Given the description of an element on the screen output the (x, y) to click on. 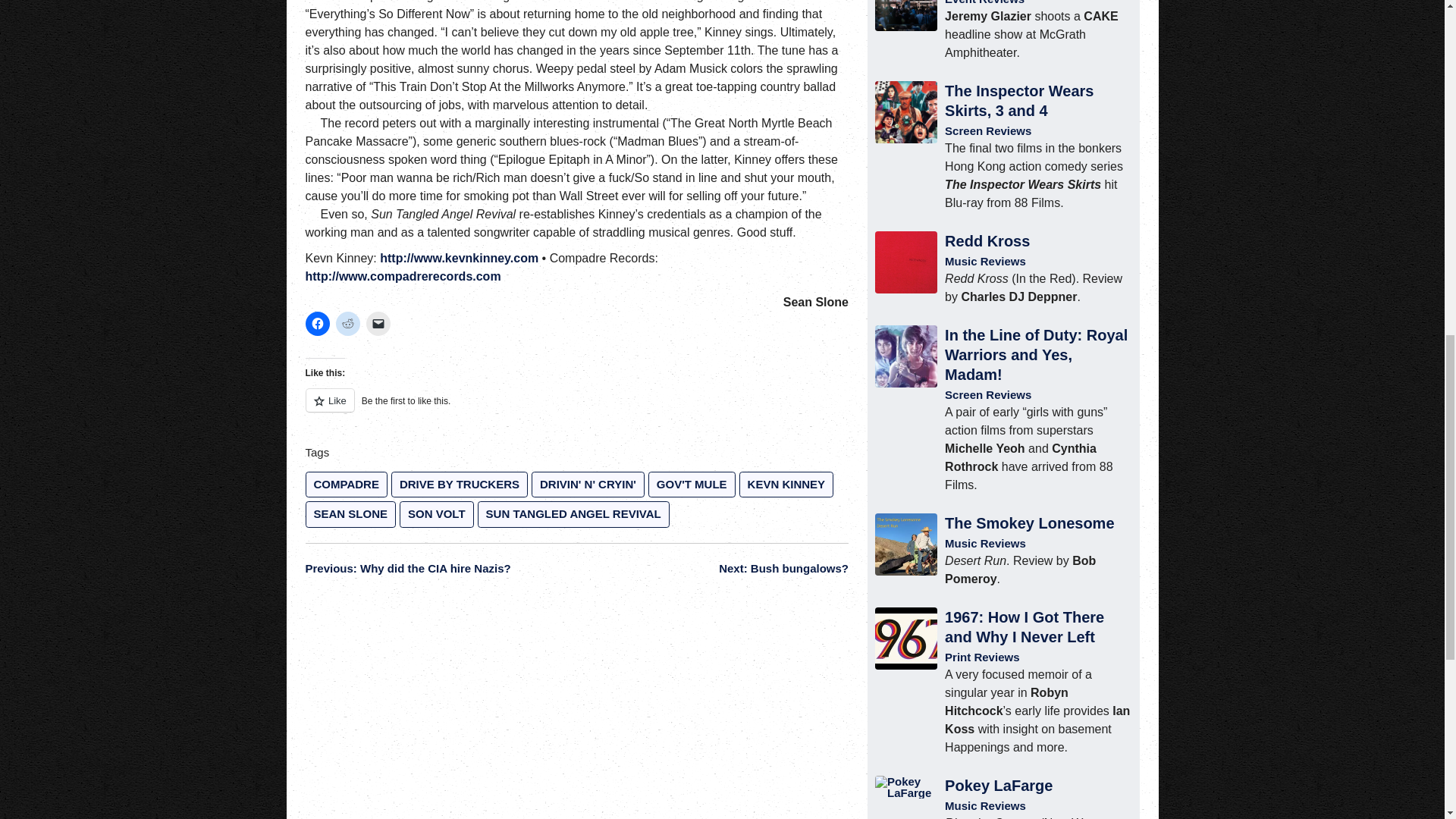
Click to email a link to a friend (377, 323)
Click to share on Facebook (316, 323)
Like or Reblog (575, 408)
Click to share on Reddit (346, 323)
